Given the description of an element on the screen output the (x, y) to click on. 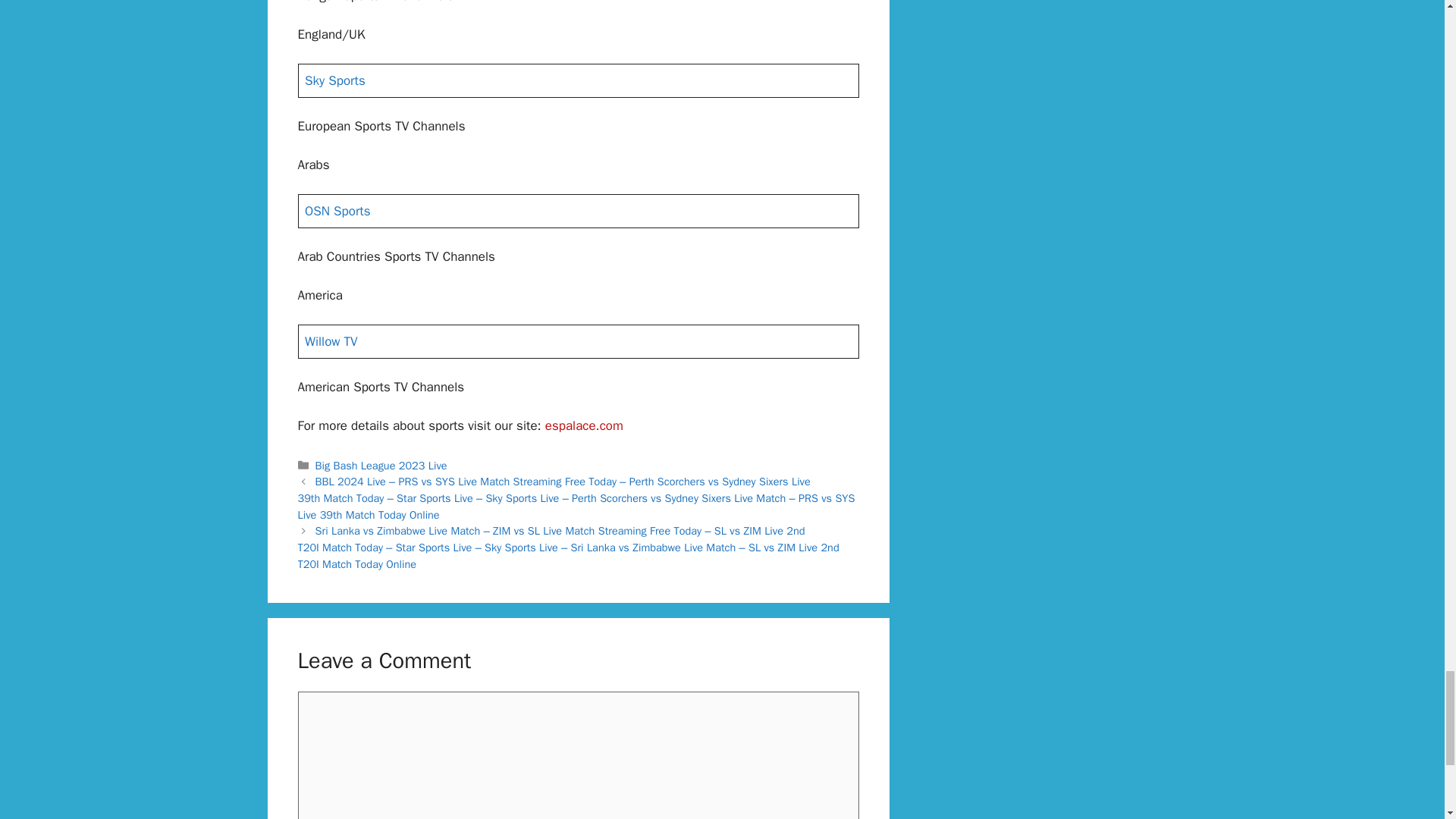
Willow TV (331, 341)
Big Bash League 2023 Live (380, 465)
espalace.com (583, 425)
OSN Sports (337, 211)
Sky Sports (334, 80)
